Given the description of an element on the screen output the (x, y) to click on. 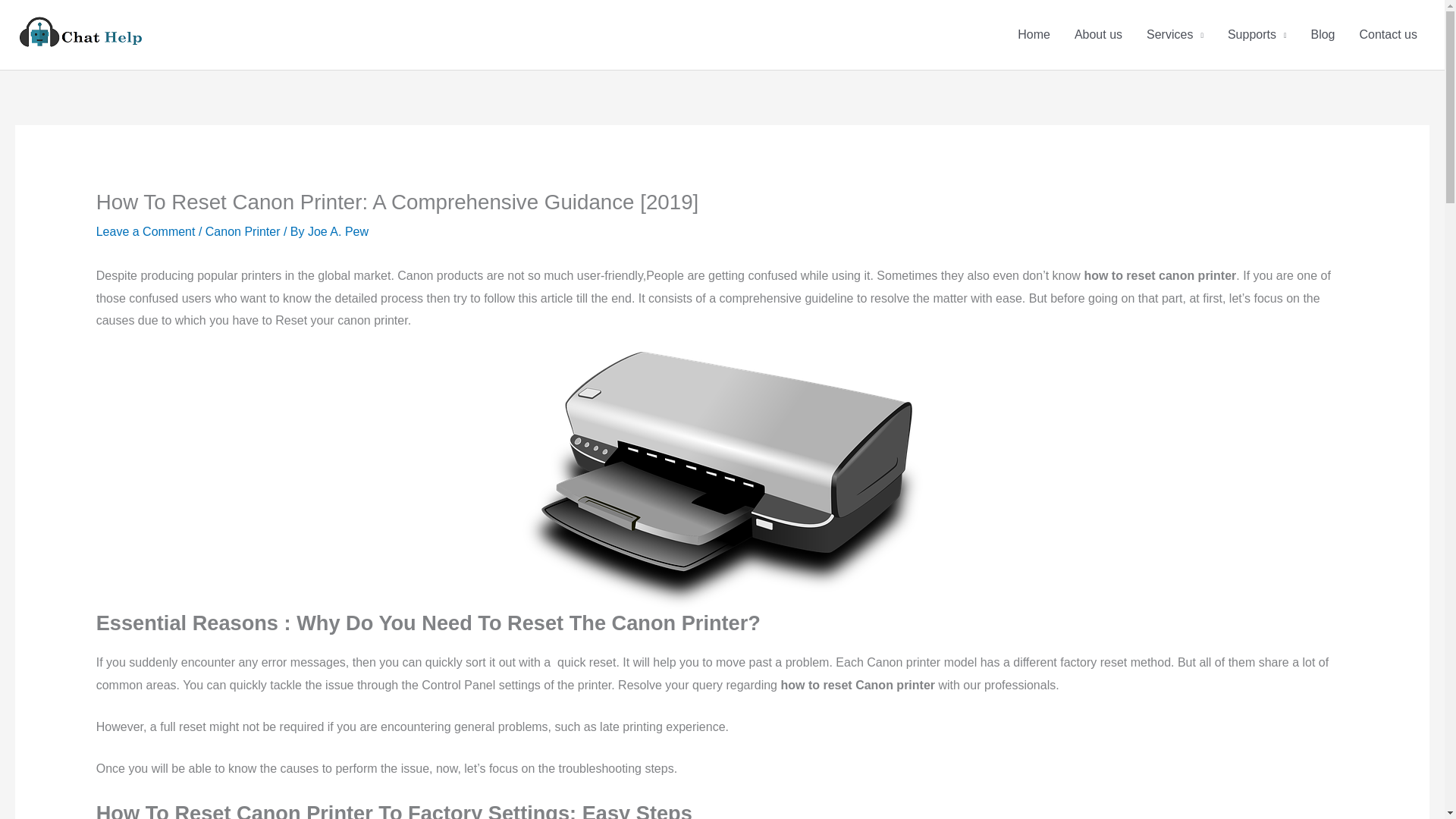
Joe A. Pew (337, 231)
Leave a Comment (145, 231)
Services (1174, 34)
Home (1034, 34)
Contact us (1388, 34)
View all posts by Joe A. Pew (337, 231)
About us (1098, 34)
Blog (1322, 34)
Canon Printer (243, 231)
Supports (1256, 34)
